Given the description of an element on the screen output the (x, y) to click on. 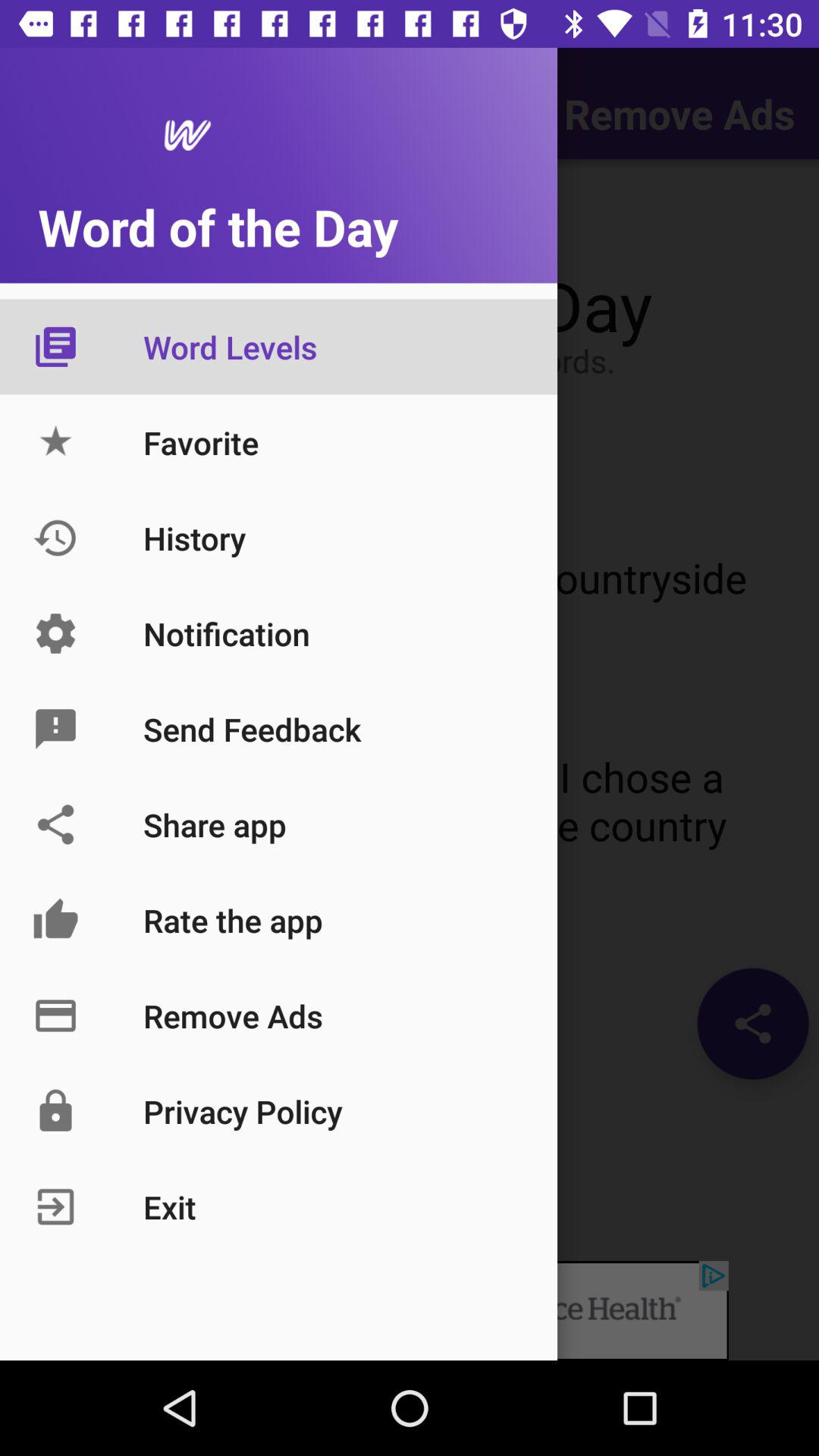
click on the icon which is just above the word of the day (171, 135)
